Given the description of an element on the screen output the (x, y) to click on. 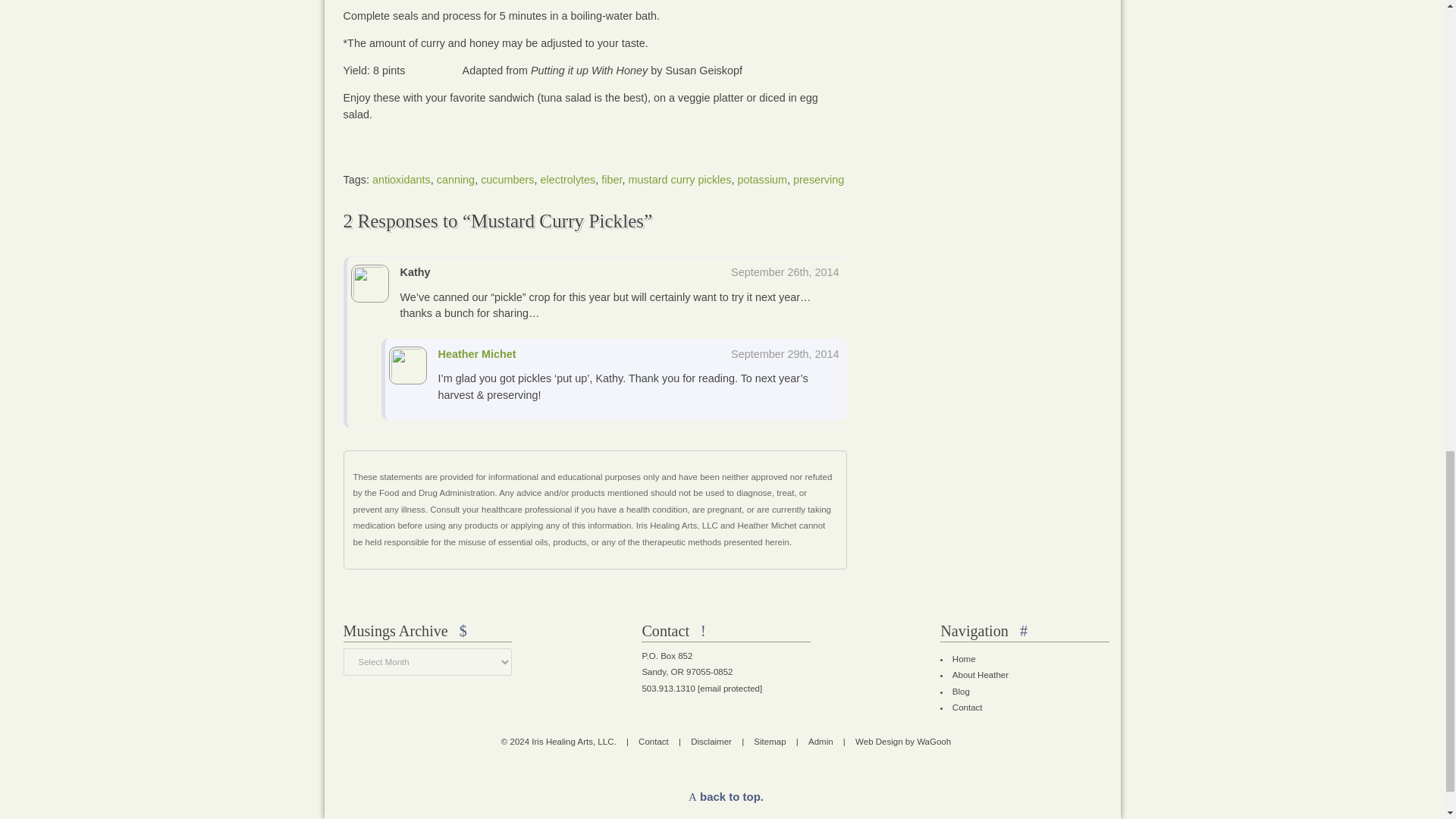
canning (455, 179)
fiber (611, 179)
September 26th, 2014 (784, 272)
potassium (761, 179)
mustard curry pickles (680, 179)
antioxidants (401, 179)
Web Design by WaGooh (903, 741)
preserving (818, 179)
September 29th, 2014 (784, 354)
cucumbers (507, 179)
